Given the description of an element on the screen output the (x, y) to click on. 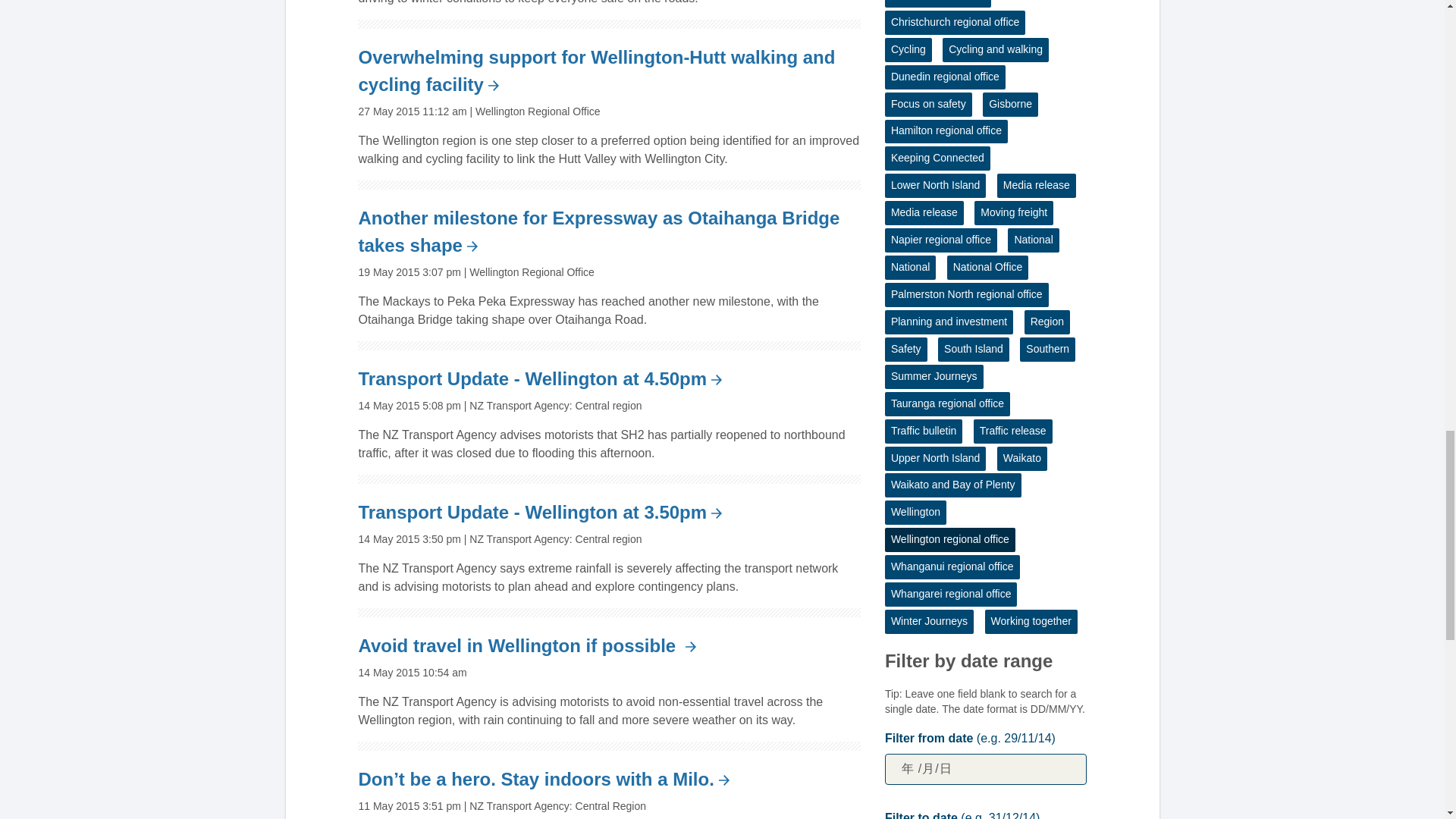
View items tagged Focus on safety (928, 104)
View items tagged Hamilton regional office (946, 131)
View items tagged Dunedin regional office (945, 77)
View items tagged Keeping Connected (937, 158)
View items tagged Cycling and walking (995, 49)
View items tagged Christchurch regional office (955, 22)
View items tagged Gisborne (1010, 104)
View items tagged Cycling (908, 49)
View items tagged Central North Island (938, 3)
